Given the description of an element on the screen output the (x, y) to click on. 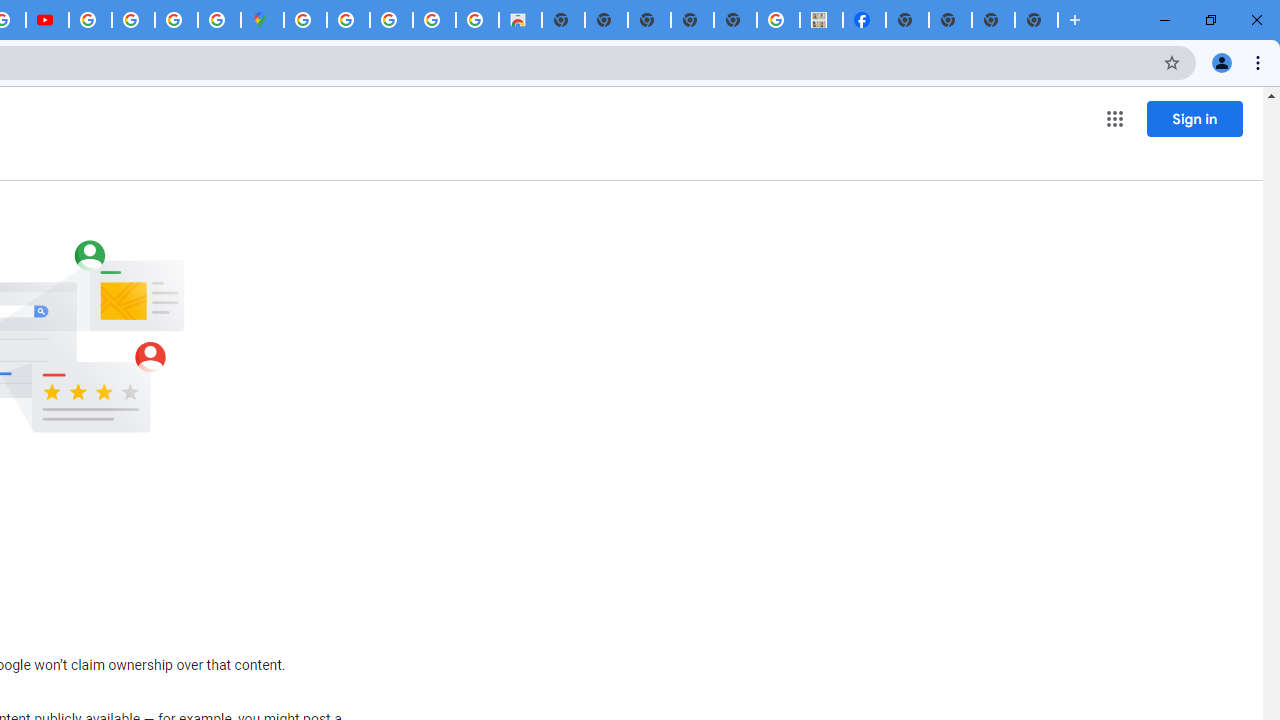
How Chrome protects your passwords - Google Chrome Help (90, 20)
Subscriptions - YouTube (47, 20)
Sign in - Google Accounts (305, 20)
New Tab (1036, 20)
New Tab (907, 20)
